Given the description of an element on the screen output the (x, y) to click on. 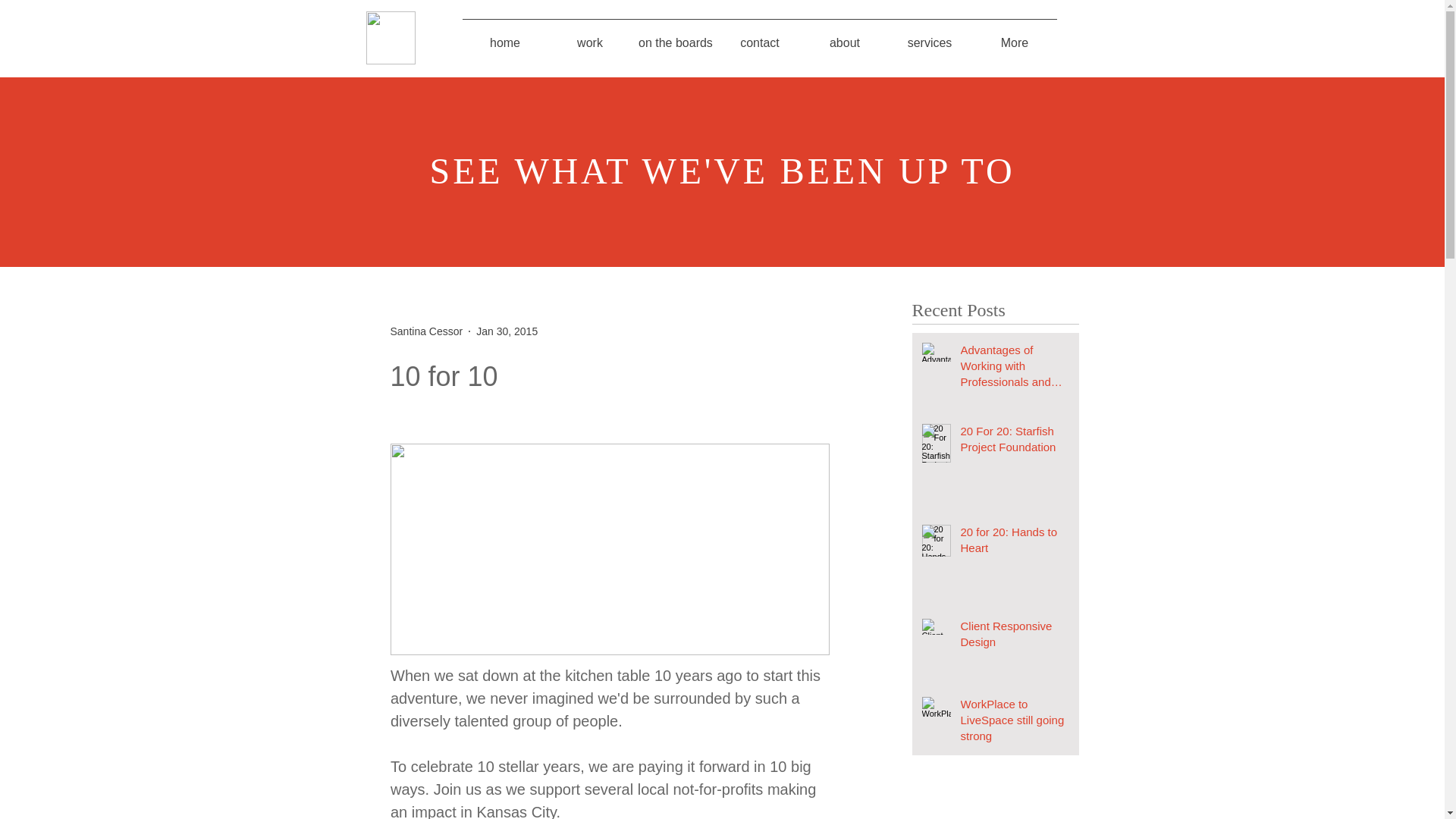
20 for 20: Hands to Heart (1013, 542)
work (589, 35)
home (505, 35)
Client Responsive Design (1013, 637)
Santina Cessor (426, 330)
Jan 30, 2015 (506, 330)
20 For 20: Starfish Project Foundation (1013, 442)
contact (759, 35)
services (929, 35)
WorkPlace to LiveSpace still going strong (1013, 723)
about (844, 35)
on the boards (674, 35)
